Given the description of an element on the screen output the (x, y) to click on. 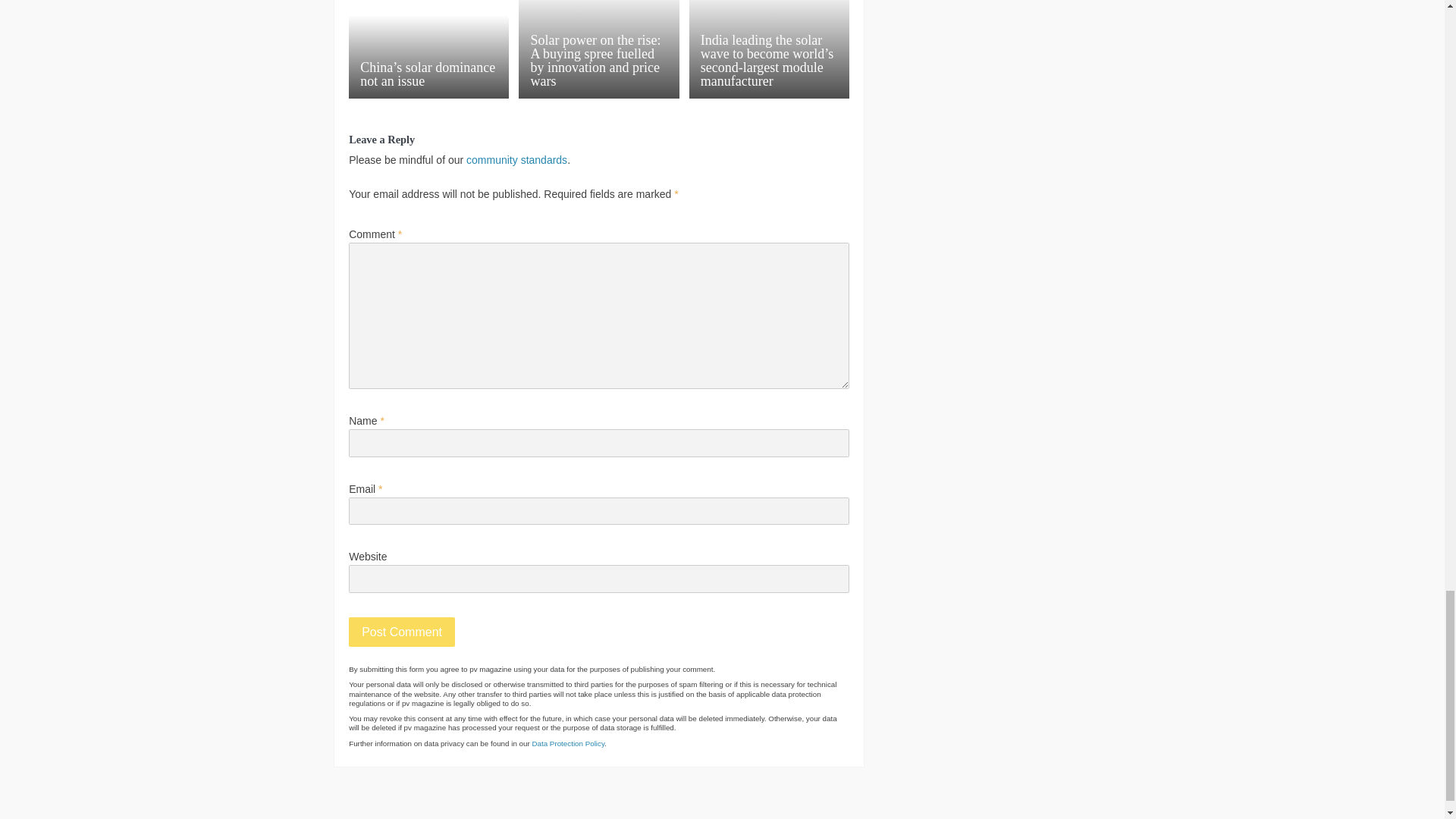
Post Comment (401, 632)
